Given the description of an element on the screen output the (x, y) to click on. 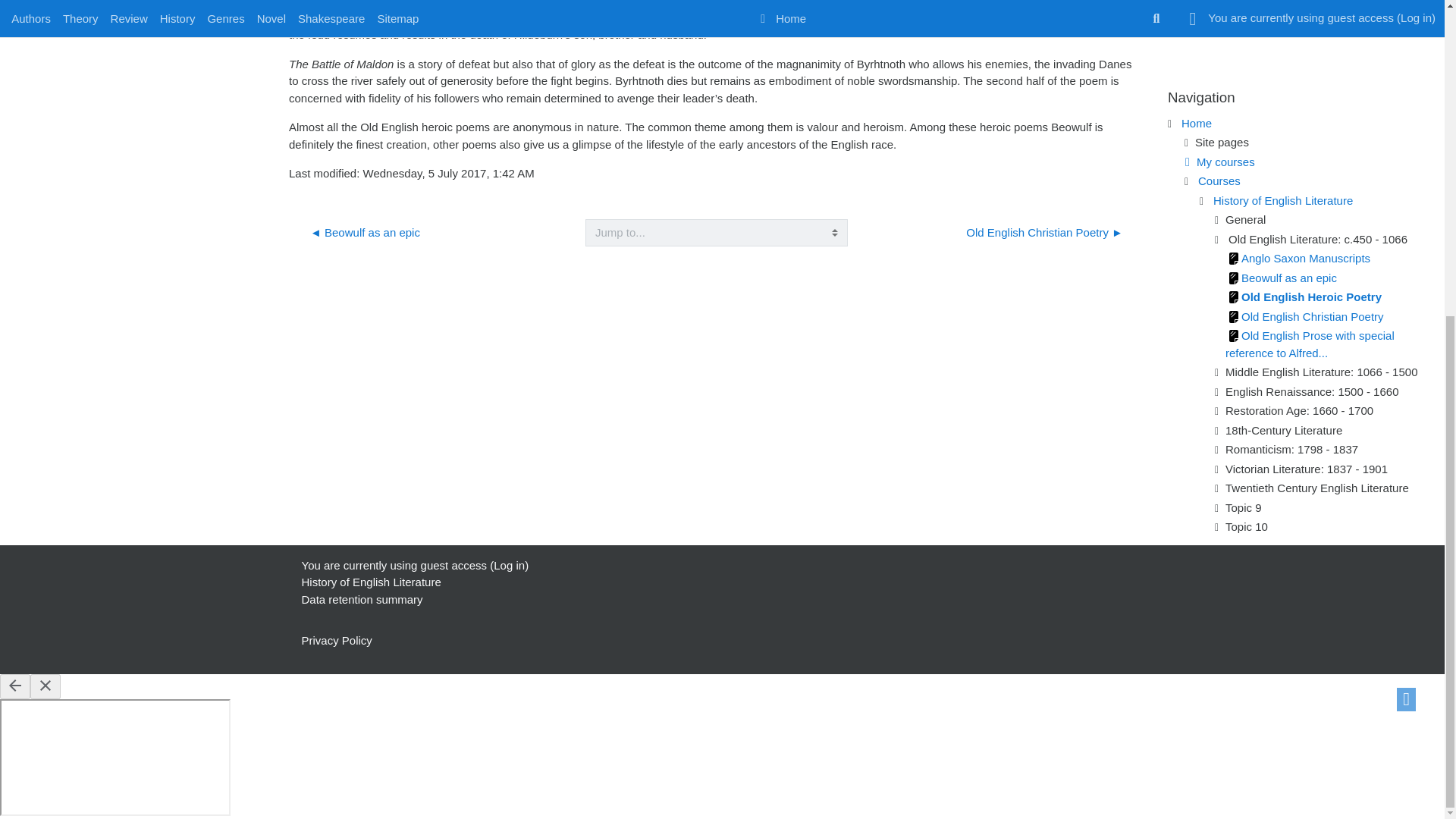
Courses (1219, 180)
My courses (1217, 160)
Anglo Saxon Manuscripts (1297, 257)
Advertisement (1300, 33)
literaturewise.in (1222, 141)
Home (1195, 123)
History of English Literature (1282, 200)
